Given the description of an element on the screen output the (x, y) to click on. 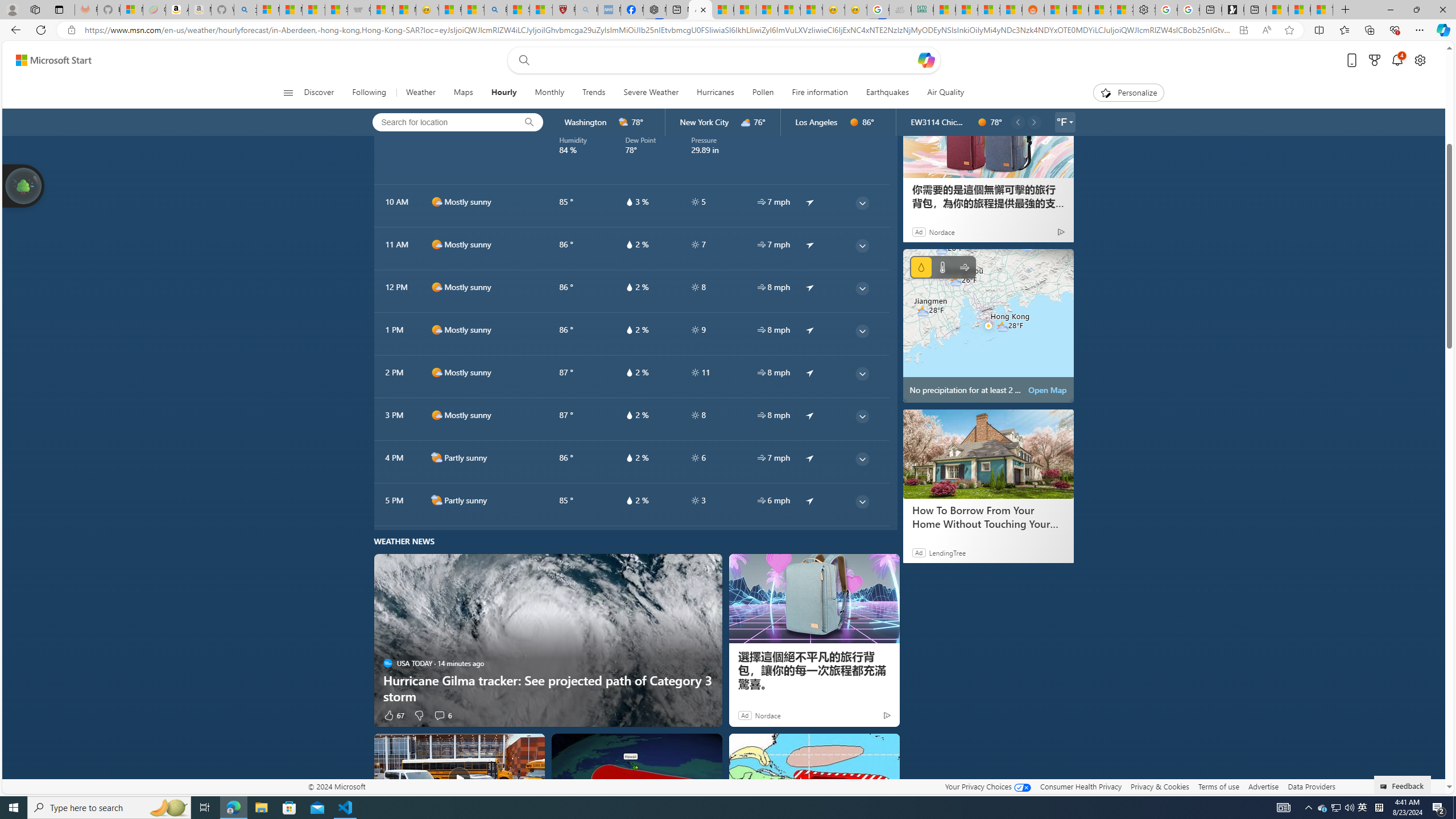
Wind (964, 267)
Class: feedback_link_icon-DS-EntryPoint1-1 (1384, 786)
Data Providers (1311, 786)
Join us in planting real trees to help our planet! (23, 184)
Fire information (819, 92)
